Given the description of an element on the screen output the (x, y) to click on. 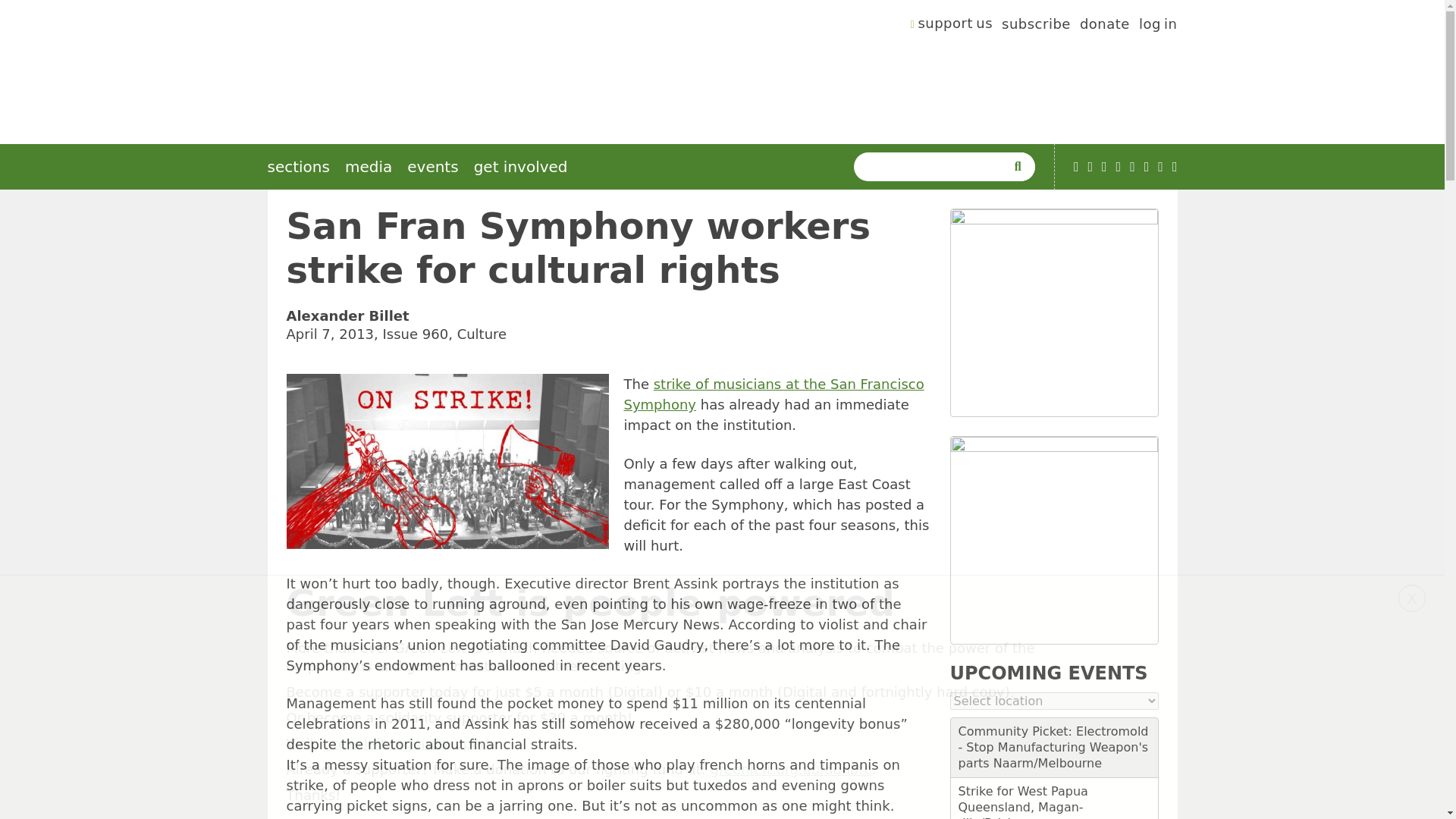
support us (951, 26)
log in (1157, 26)
events (432, 166)
donate (1104, 26)
subscribe (1035, 26)
Enter the terms you wish to search for. (932, 166)
